Given the description of an element on the screen output the (x, y) to click on. 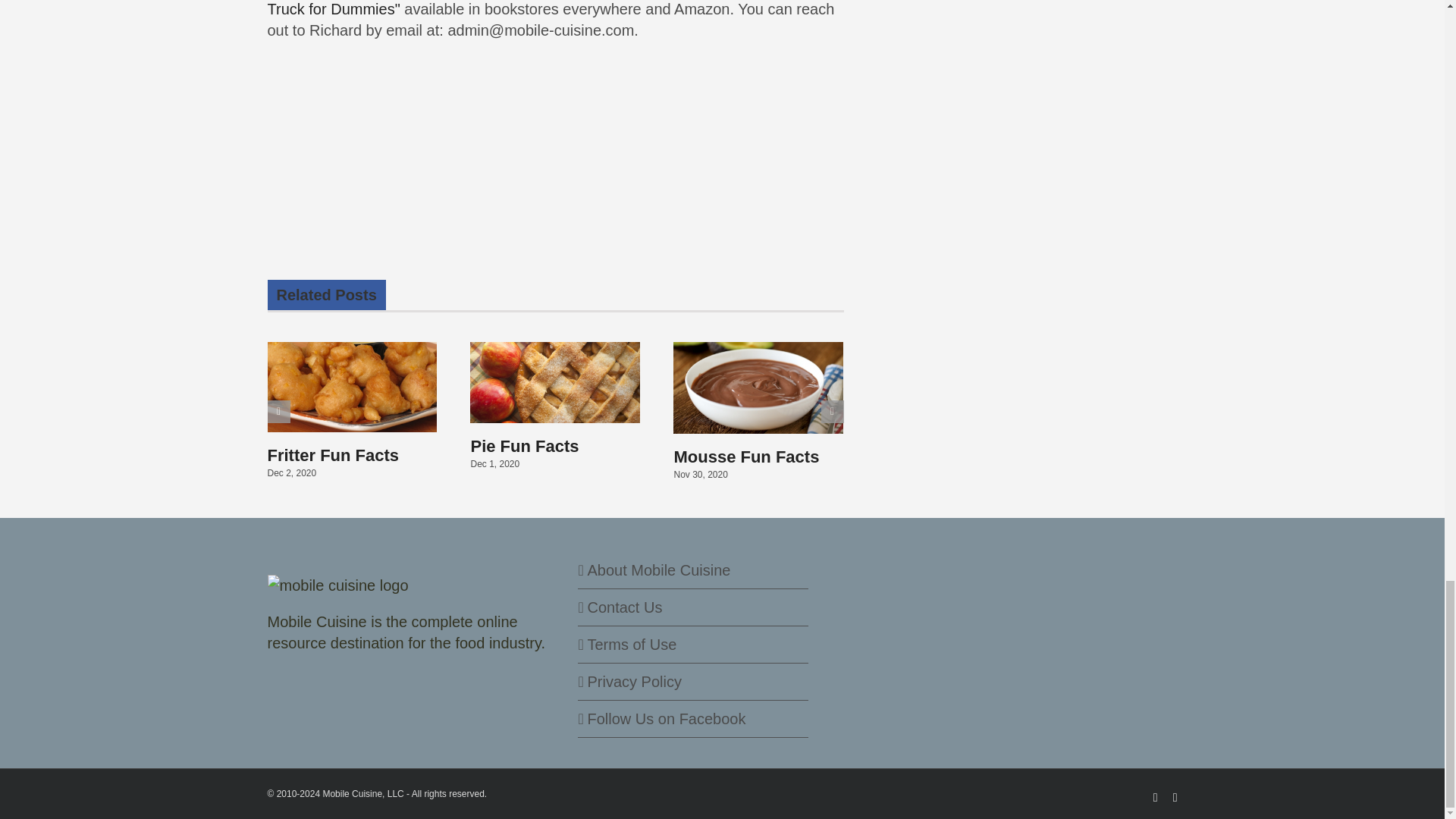
Mousse Fun Facts (745, 456)
Pie Fun Facts (524, 445)
Fritter Fun Facts (332, 455)
